Given the description of an element on the screen output the (x, y) to click on. 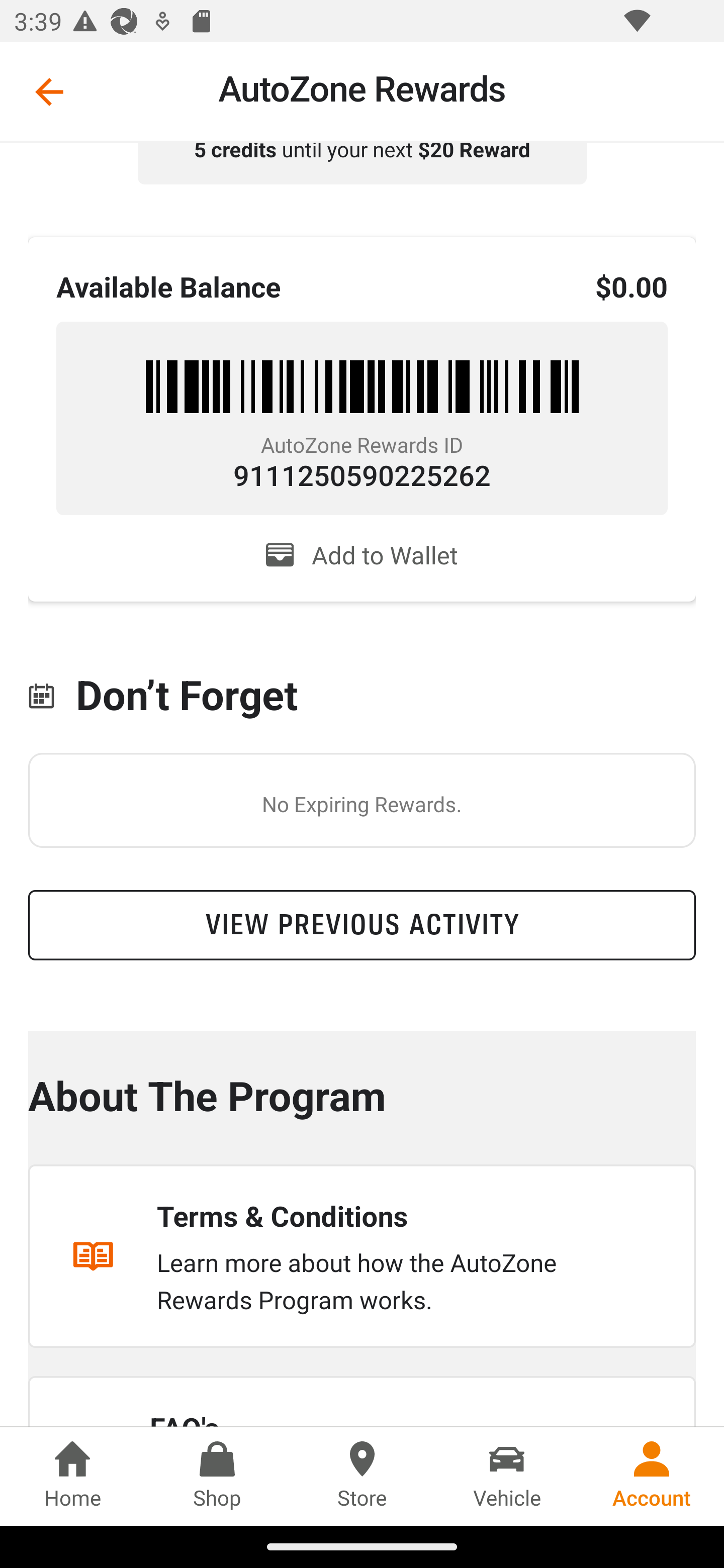
back-button  (49, 91)
Add to Wallet (361, 554)
VIEW PREVIOUS ACTIVITY (361, 924)
Home (72, 1475)
Shop (216, 1475)
Store (361, 1475)
Vehicle (506, 1475)
Account (651, 1475)
